Given the description of an element on the screen output the (x, y) to click on. 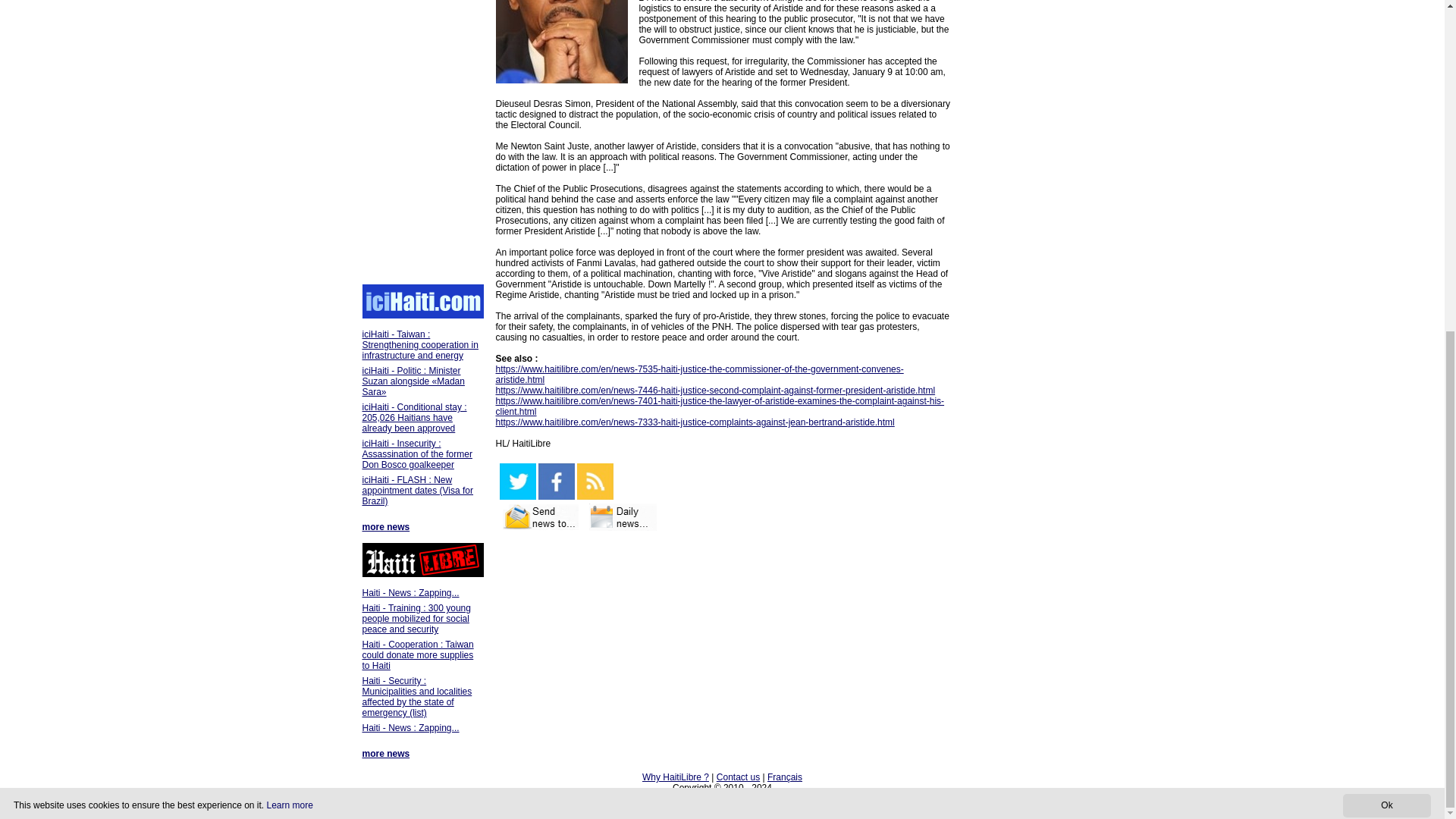
more news (386, 526)
more news (386, 753)
Haiti - News : Zapping... (411, 727)
Haiti - News : Zapping... (411, 593)
